Given the description of an element on the screen output the (x, y) to click on. 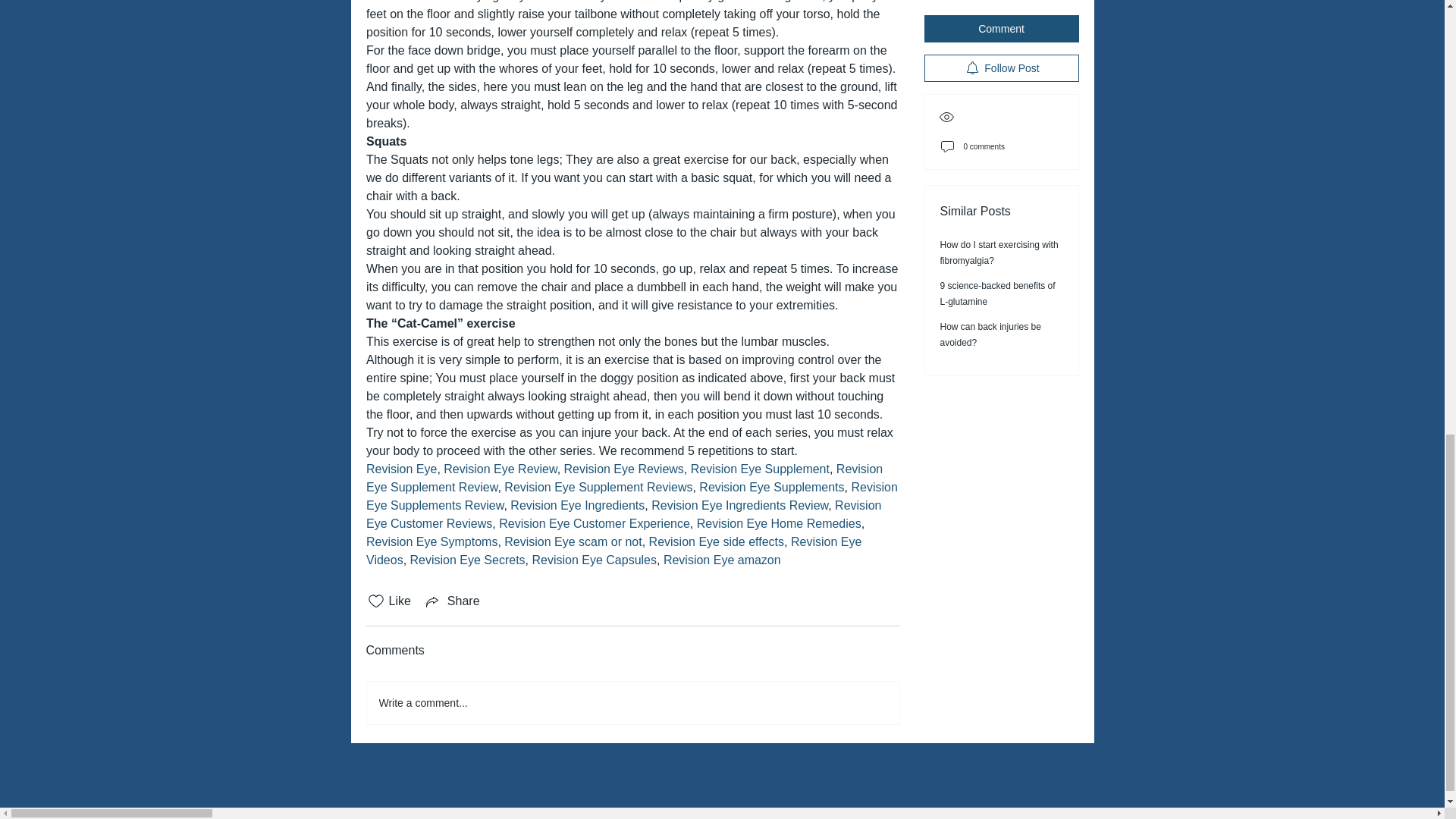
Revision Eye Reviews (622, 468)
Revision Eye Supplement Reviews (598, 486)
Revision Eye Review (500, 468)
Revision Eye (400, 468)
Revision Eye Supplement Review (625, 477)
Revision Eye Supplement (759, 468)
